Given the description of an element on the screen output the (x, y) to click on. 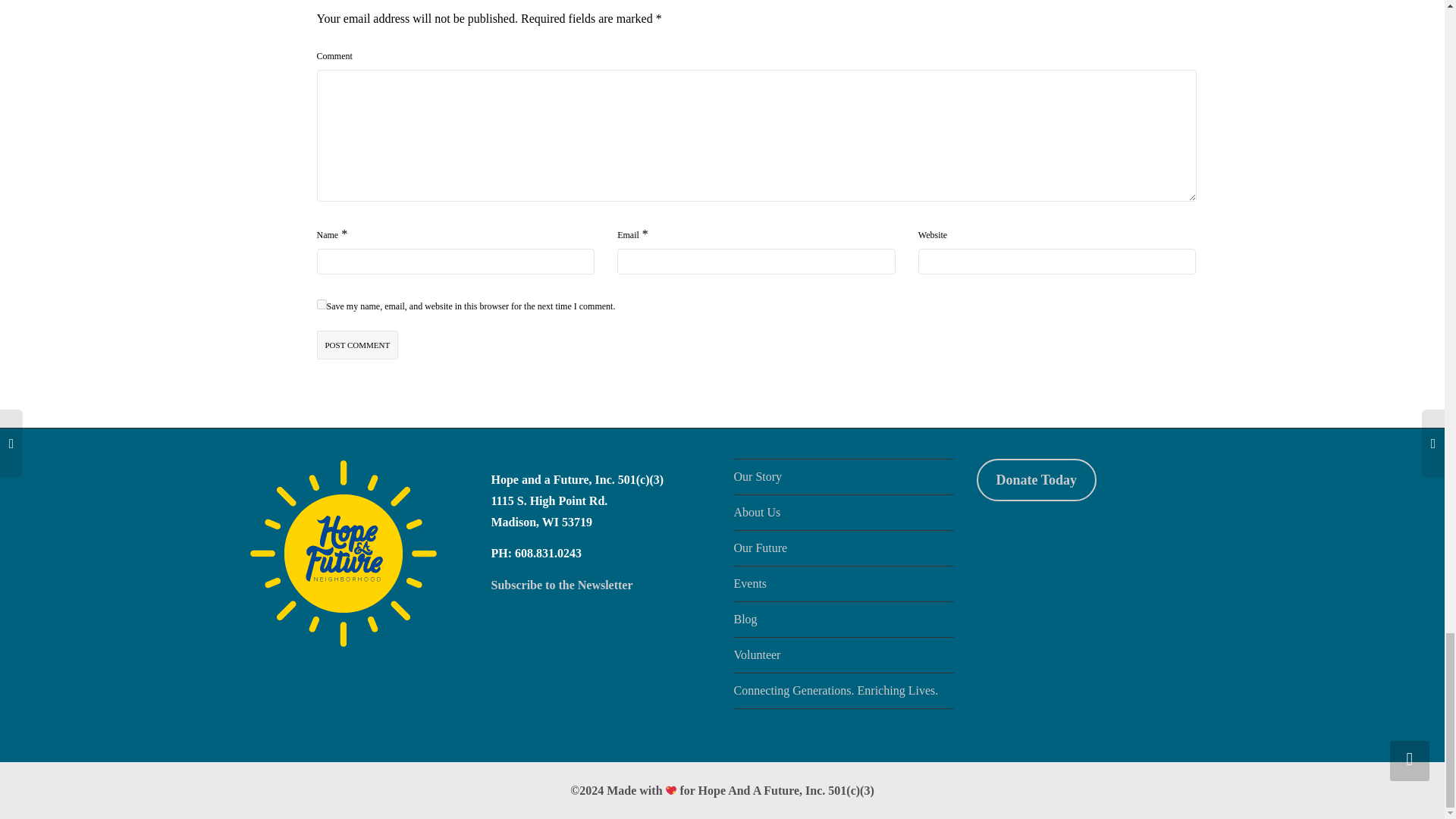
Post comment (357, 345)
yes (321, 304)
